Given the description of an element on the screen output the (x, y) to click on. 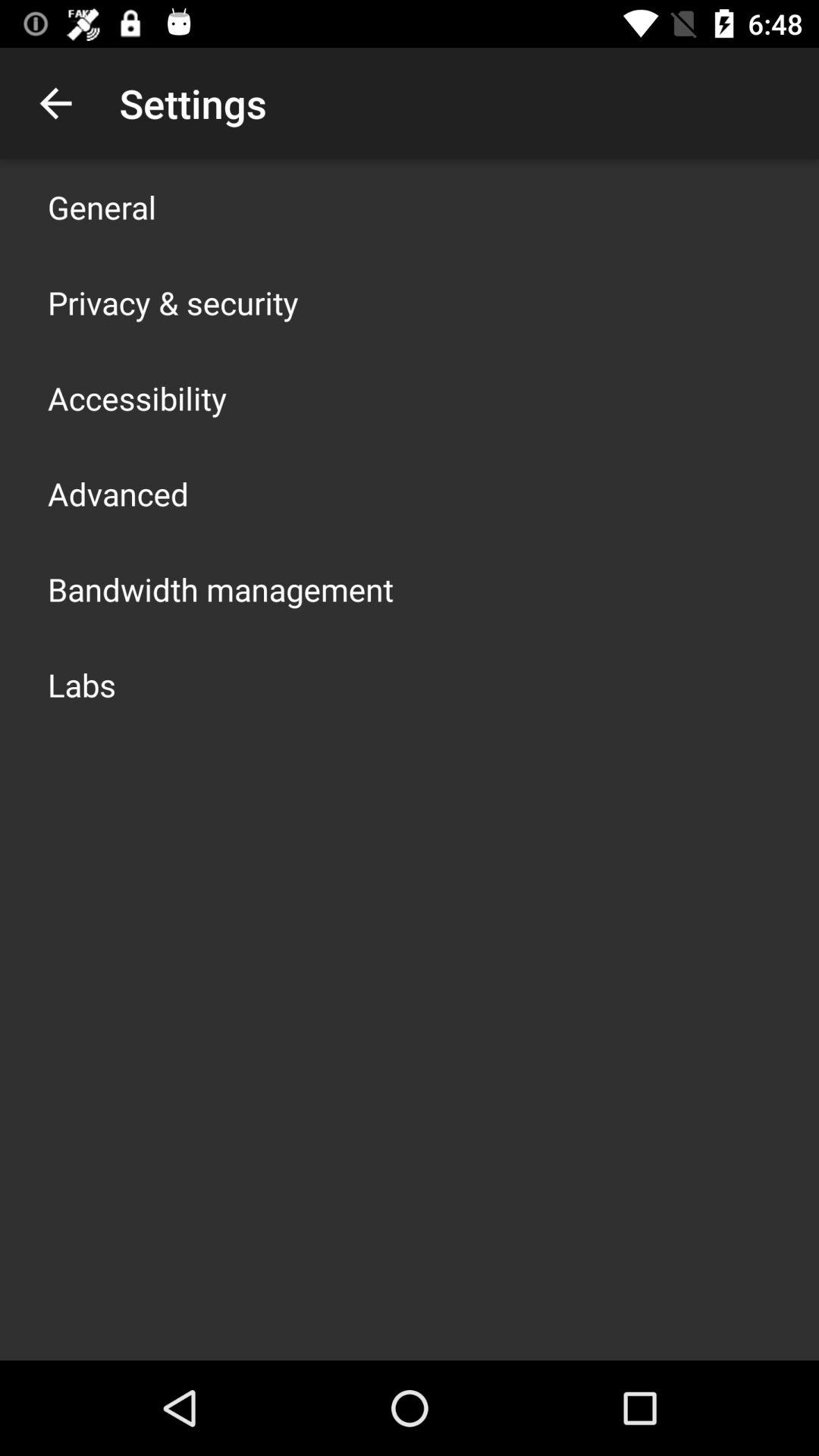
click labs icon (81, 684)
